Given the description of an element on the screen output the (x, y) to click on. 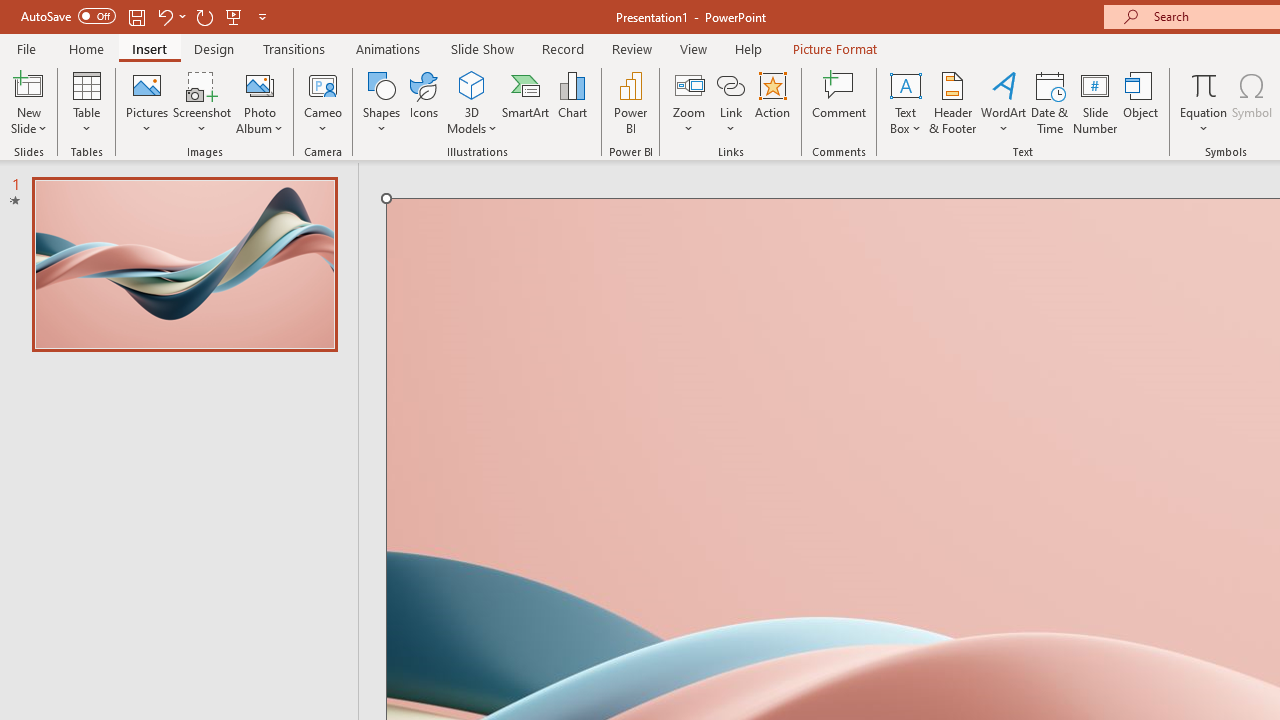
Date & Time... (1050, 102)
Action (772, 102)
Slide Number (1095, 102)
3D Models (472, 102)
WordArt (1004, 102)
